Given the description of an element on the screen output the (x, y) to click on. 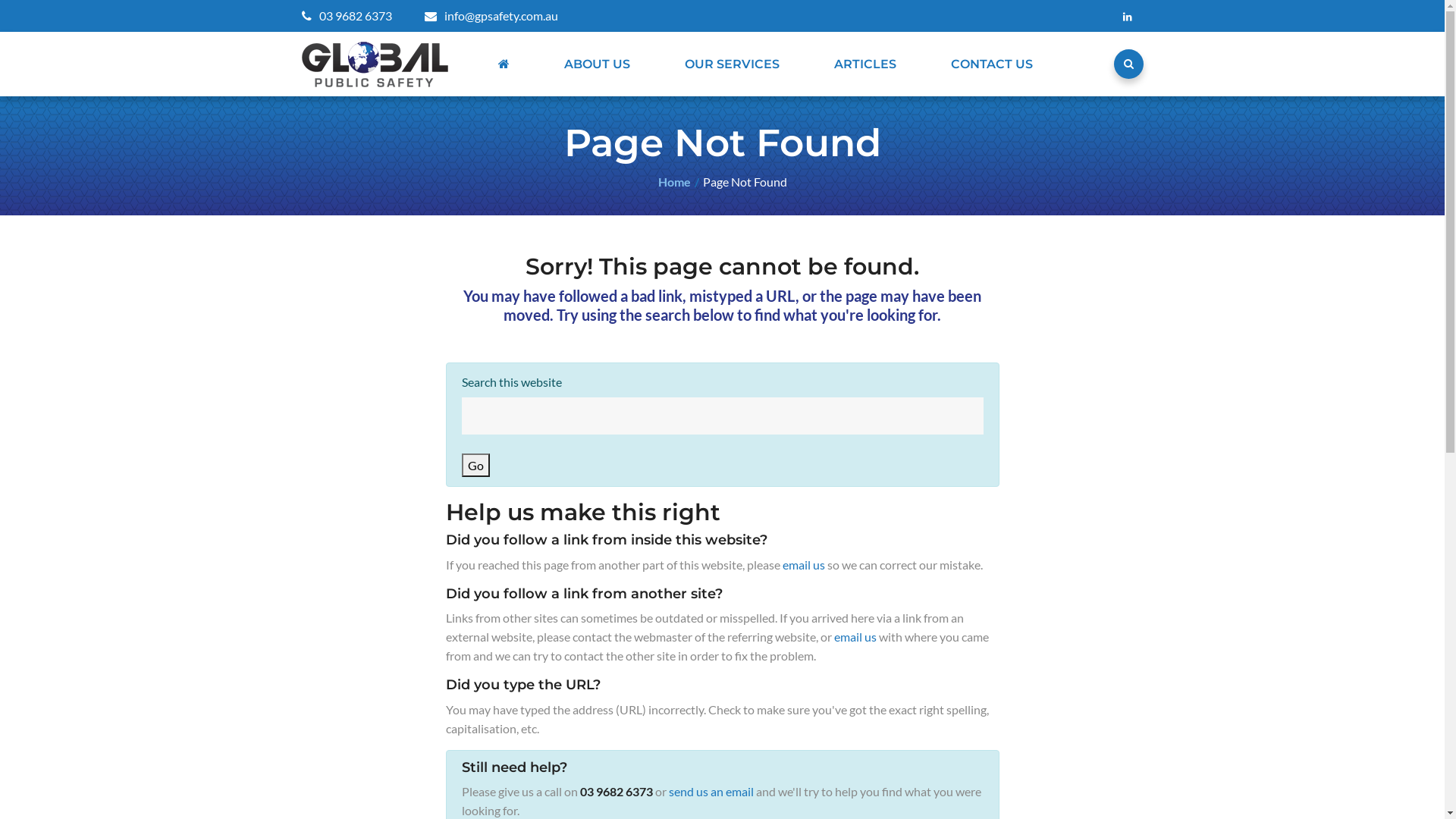
OUR SERVICES Element type: text (731, 63)
Go Element type: text (475, 464)
ARTICLES Element type: text (864, 63)
email us Element type: text (803, 564)
CONTACT US Element type: text (991, 63)
send us an email Element type: text (710, 791)
info@gpsafety.com.au Element type: text (491, 15)
email us Element type: text (855, 636)
ABOUT US Element type: text (596, 63)
Home Element type: text (674, 181)
